Given the description of an element on the screen output the (x, y) to click on. 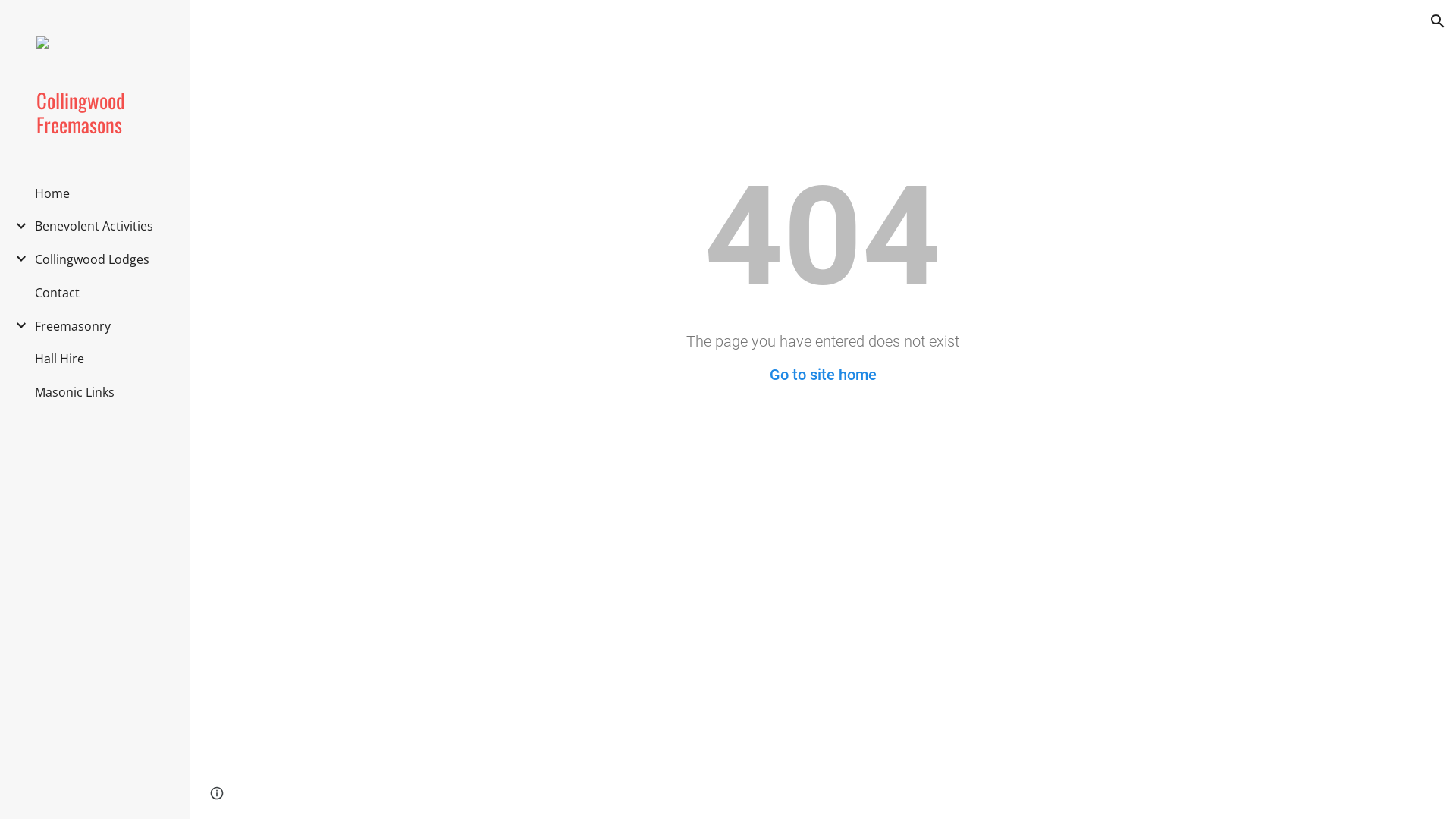
Home Element type: text (52, 193)
Masonic Links Element type: text (74, 391)
Expand/Collapse Element type: hover (16, 258)
Expand/Collapse Element type: hover (16, 225)
Collingwood Freemasons Element type: text (100, 111)
Benevolent Activities Element type: text (93, 225)
Expand/Collapse Element type: hover (16, 325)
Freemasonry Element type: text (72, 325)
Contact Element type: text (57, 292)
Collingwood Lodges Element type: text (91, 259)
Go to site home Element type: text (821, 374)
Hall Hire Element type: text (59, 358)
